Given the description of an element on the screen output the (x, y) to click on. 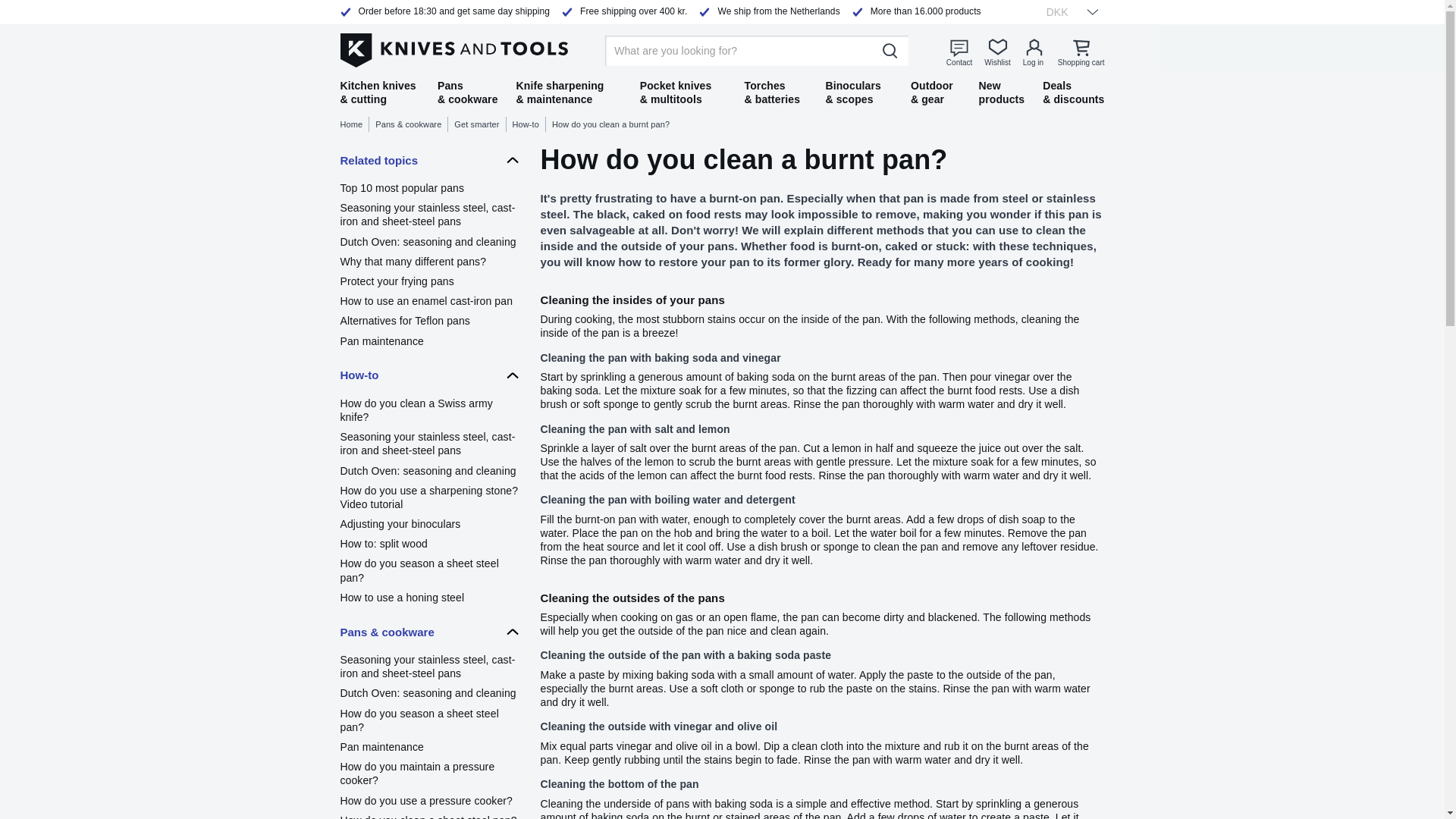
How to use an enamel cast-iron pan (430, 300)
Dutch Oven: seasoning and cleaning (430, 470)
Pan maintenance (430, 341)
DKK (1067, 11)
How do you clean a Swiss army knife? (430, 410)
Why that many different pans? (430, 261)
Logo (453, 48)
Related topics (430, 159)
New products (1001, 92)
How-to (529, 124)
Home (354, 124)
Protect your frying pans (430, 281)
How-to (430, 375)
Get smarter (479, 124)
